Given the description of an element on the screen output the (x, y) to click on. 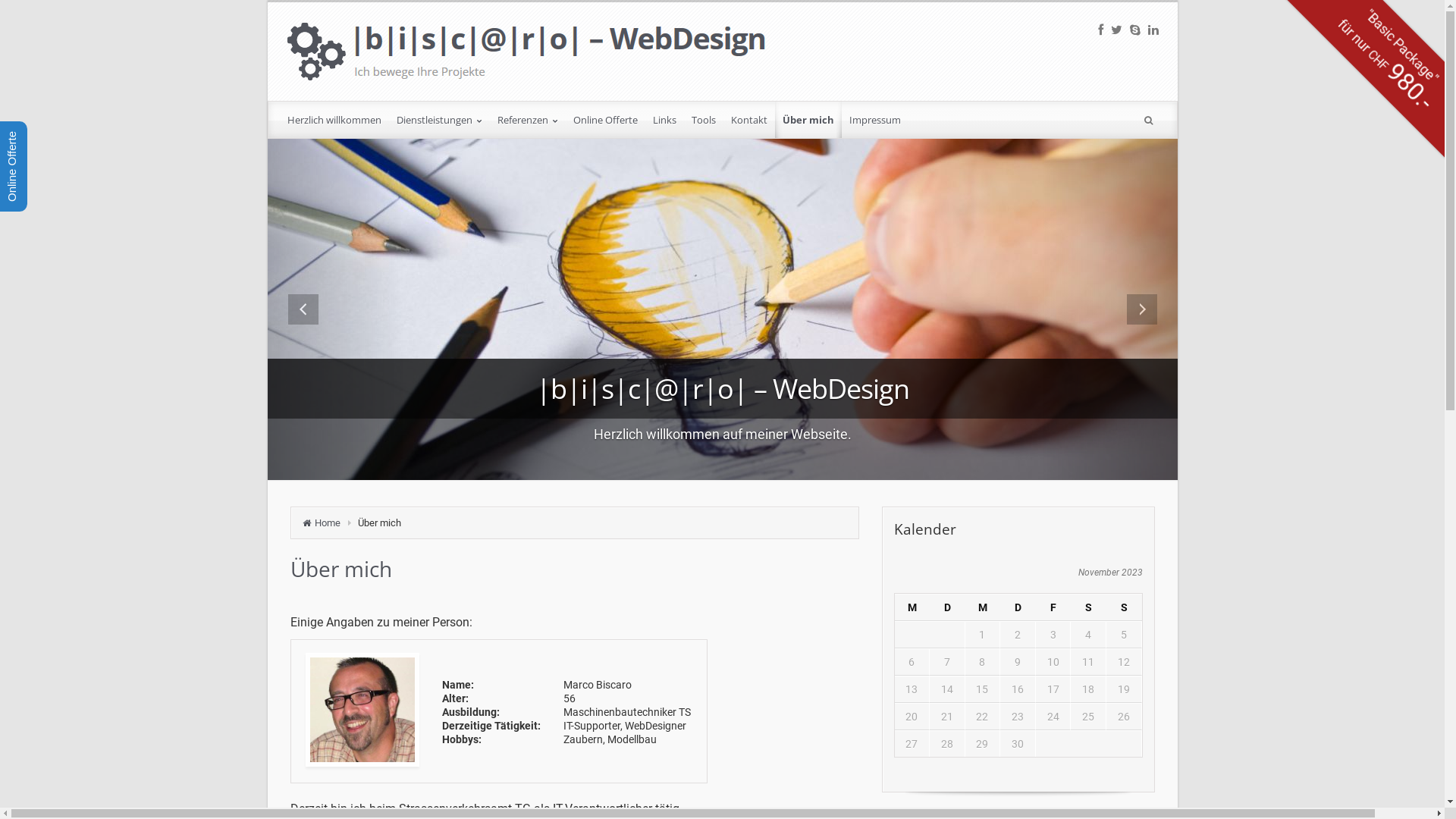
Impressum Element type: text (874, 119)
Kontakt Element type: text (749, 119)
Online Offerte Element type: text (605, 119)
Herzlich willkommen Element type: text (333, 119)
Marco Biscaro Element type: hover (362, 709)
Dienstleistungen Element type: text (438, 119)
Tools Element type: text (703, 119)
Home Element type: text (324, 522)
Referenzen Element type: text (527, 119)
Links Element type: text (663, 119)
